Given the description of an element on the screen output the (x, y) to click on. 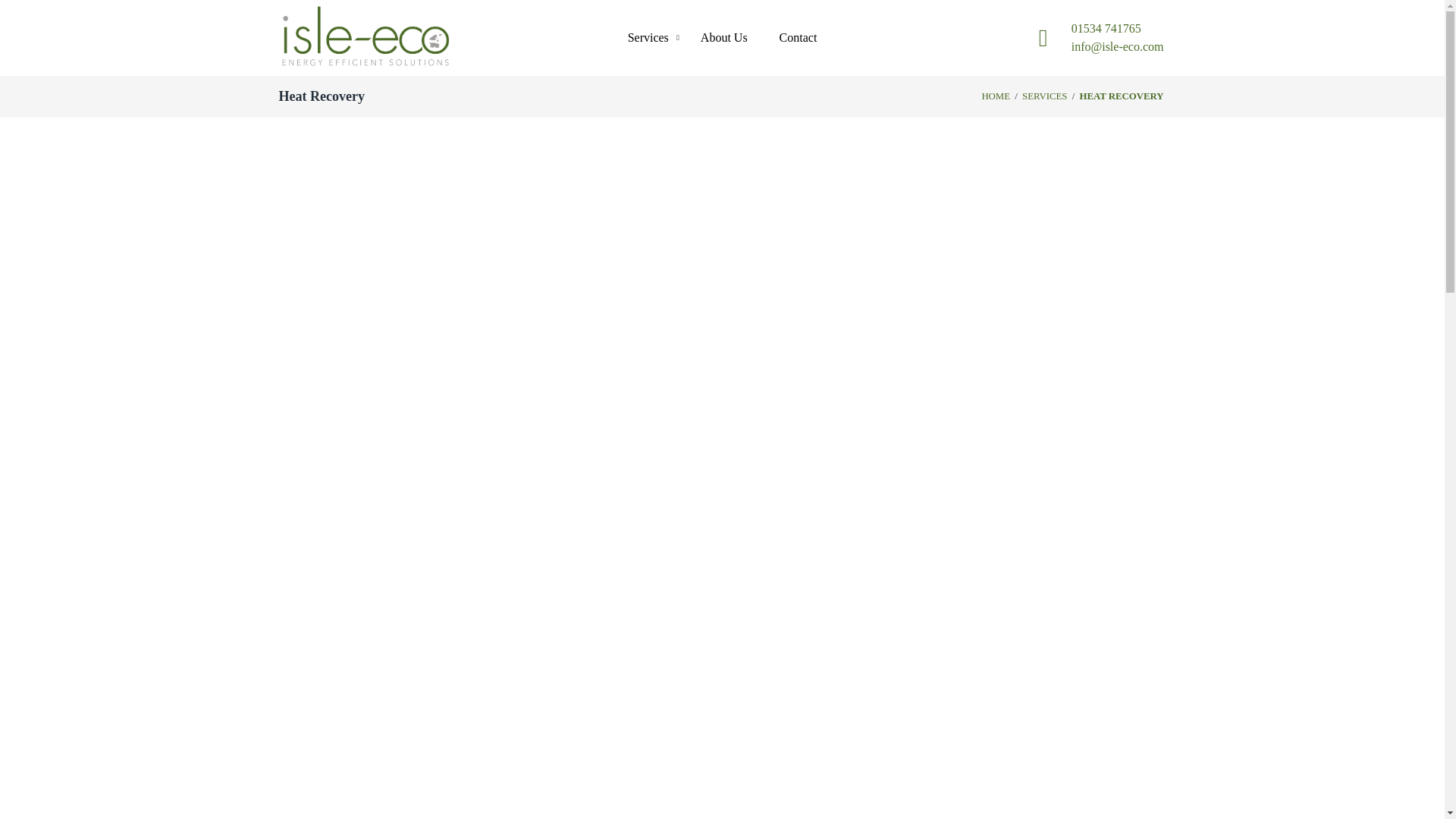
Services (648, 37)
Contact (798, 37)
About Us (724, 37)
